Given the description of an element on the screen output the (x, y) to click on. 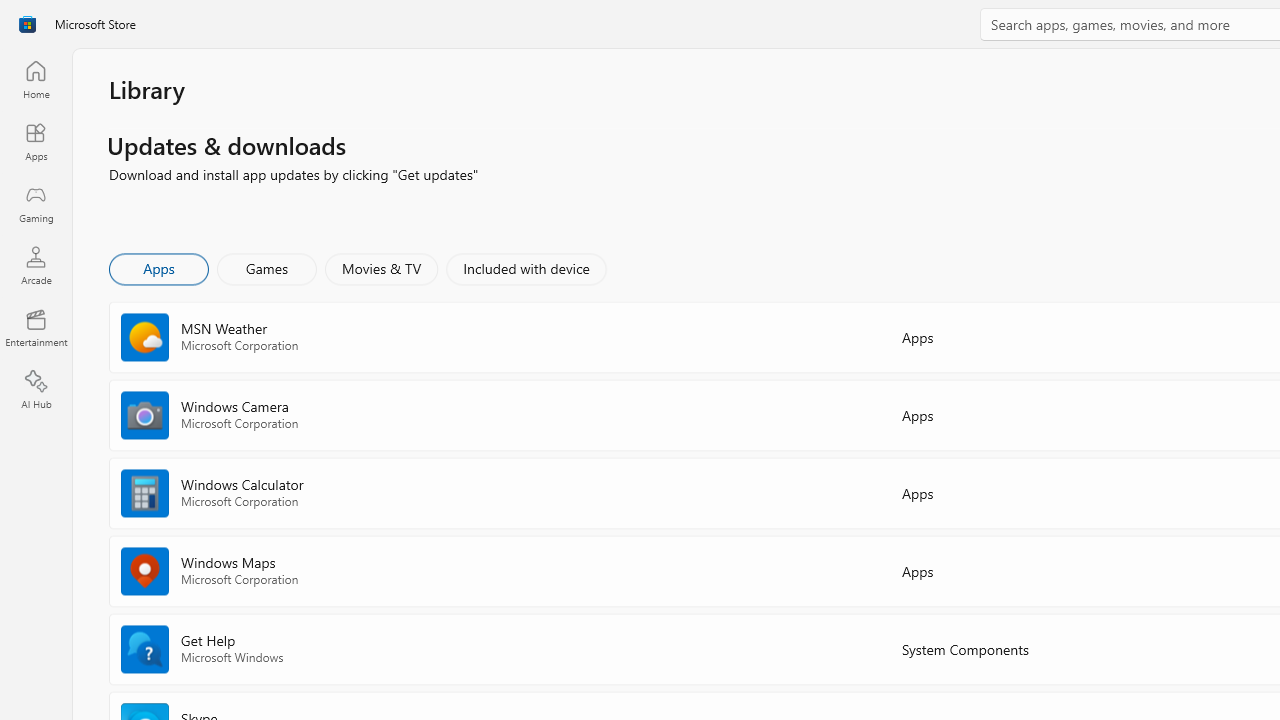
Home (35, 79)
Entertainment (35, 327)
Included with device (525, 268)
Games (267, 268)
Gaming (35, 203)
Apps (35, 141)
Apps (158, 268)
AI Hub (35, 390)
Movies & TV (381, 268)
Arcade (35, 265)
Class: Image (27, 24)
